Given the description of an element on the screen output the (x, y) to click on. 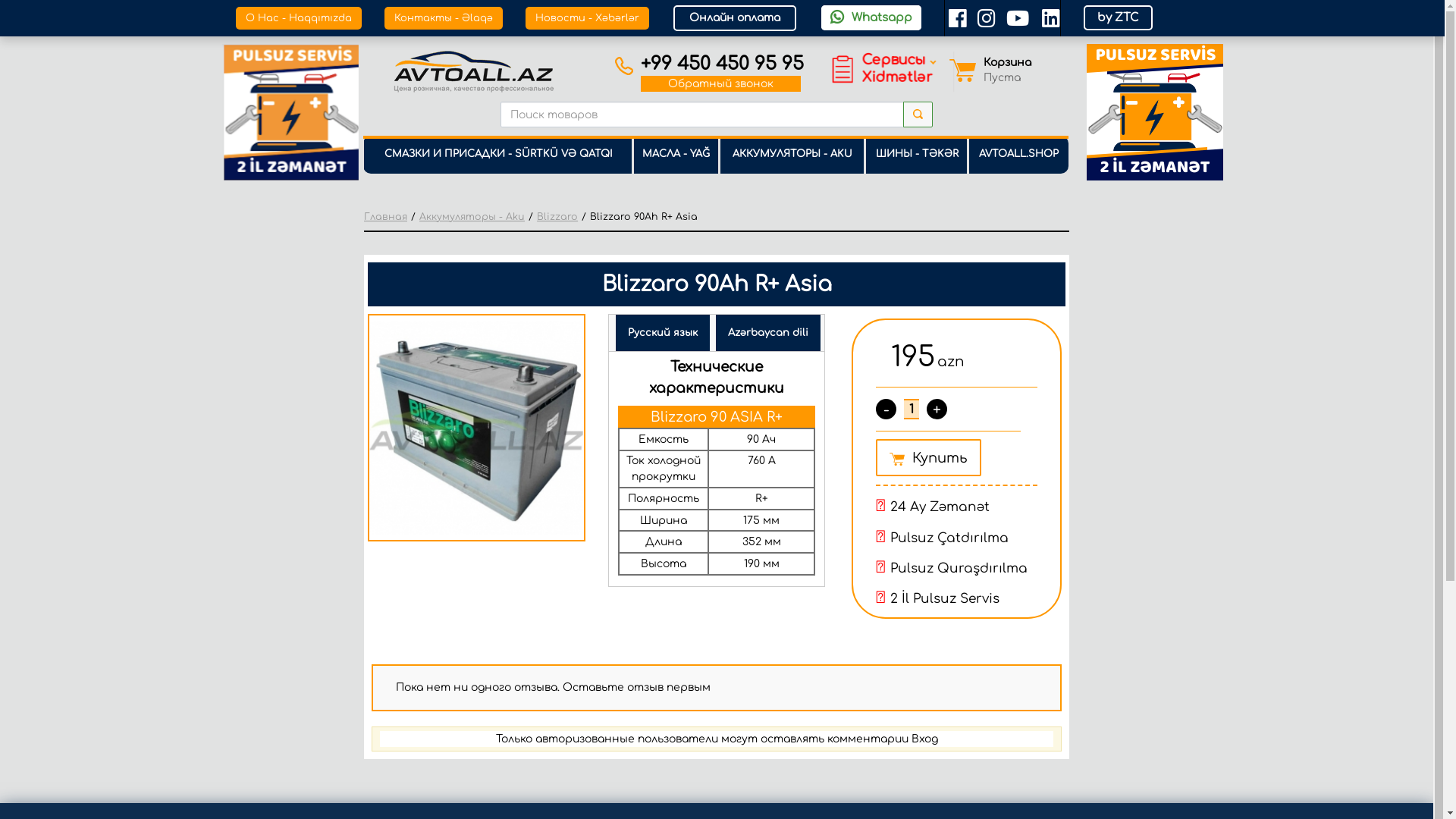
Whatsapp Element type: text (870, 17)
- Element type: text (886, 409)
AVTOALL.SHOP Element type: text (1018, 161)
by ZTC Element type: text (1116, 17)
Blizzaro Element type: text (556, 216)
+99 450 450 95 95 Element type: text (721, 63)
+ Element type: text (936, 409)
Blizzaro 90Ah R+ Asia Element type: hover (476, 427)
